Given the description of an element on the screen output the (x, y) to click on. 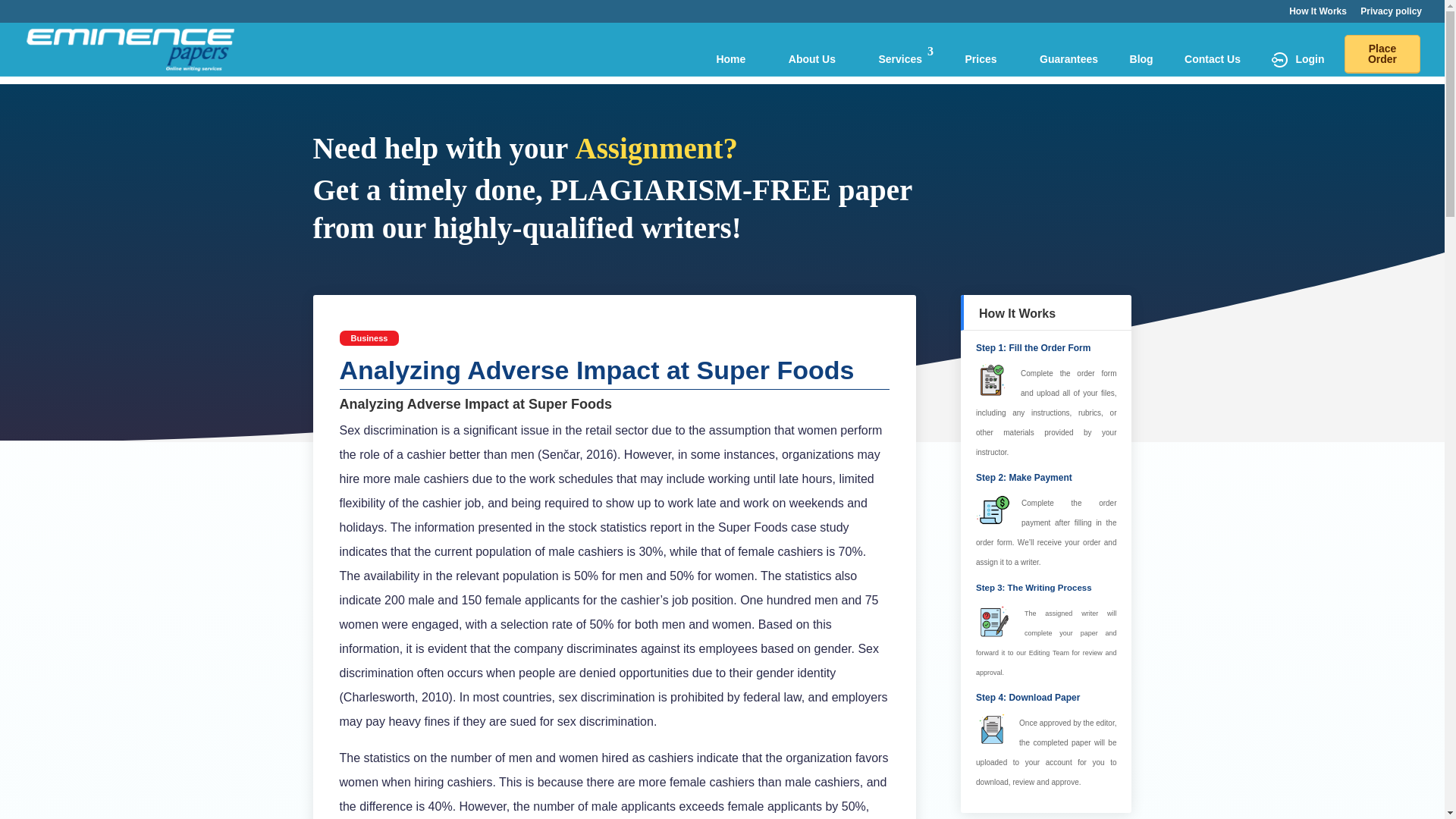
Business (368, 337)
About Us (812, 58)
Home (730, 58)
Login (1297, 65)
order form (1096, 373)
Contact Us (1212, 58)
How It Works (1317, 14)
Prices (981, 58)
Blog (1141, 65)
Place Order (1382, 54)
